Given the description of an element on the screen output the (x, y) to click on. 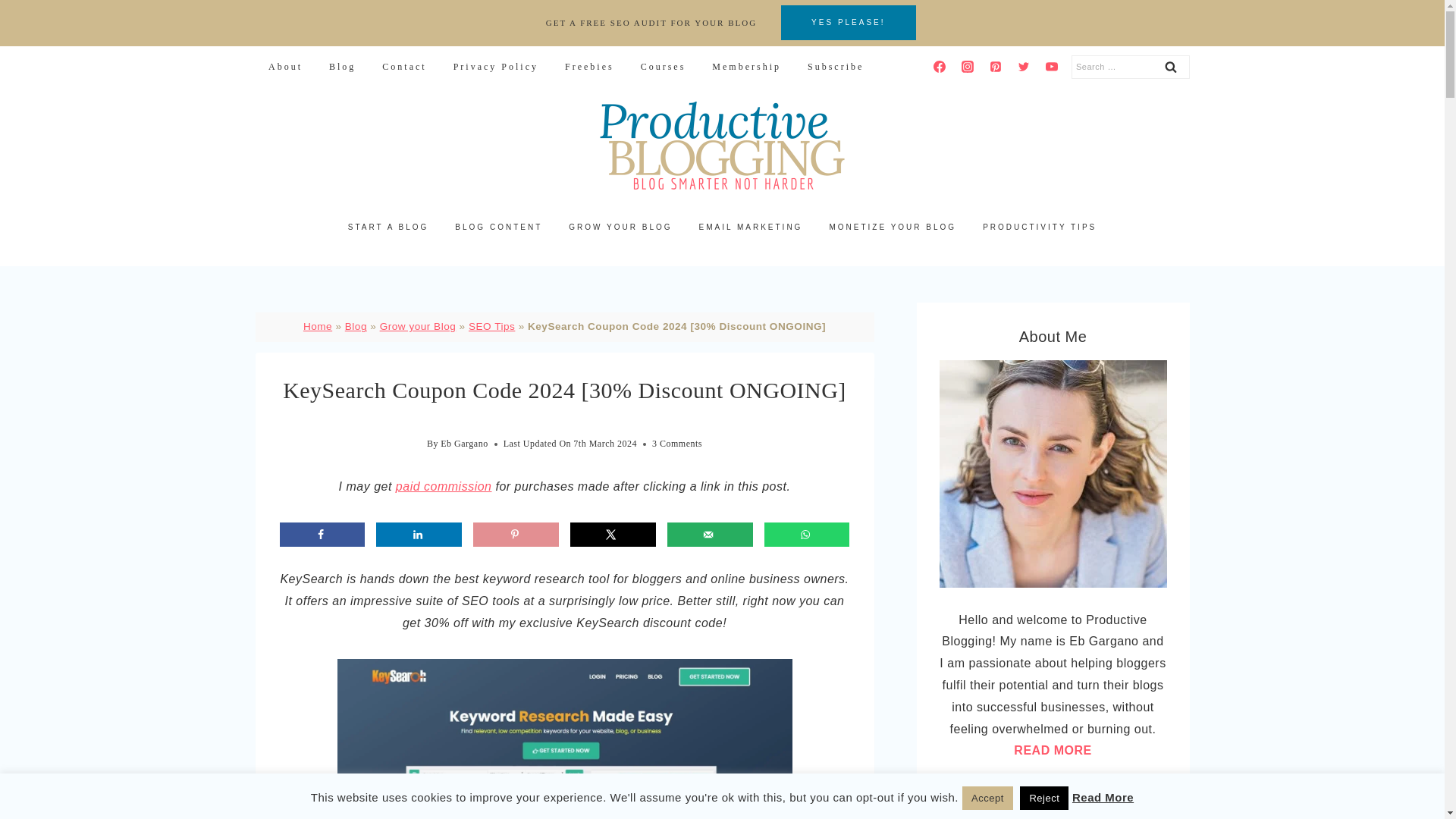
BLOG CONTENT (499, 227)
Blog (341, 66)
Contact (404, 66)
Grow your Blog (418, 326)
3 Comments (676, 443)
Search (1170, 66)
Search (1170, 66)
PRODUCTIVITY TIPS (1039, 227)
EMAIL MARKETING (750, 227)
Home (316, 326)
